Given the description of an element on the screen output the (x, y) to click on. 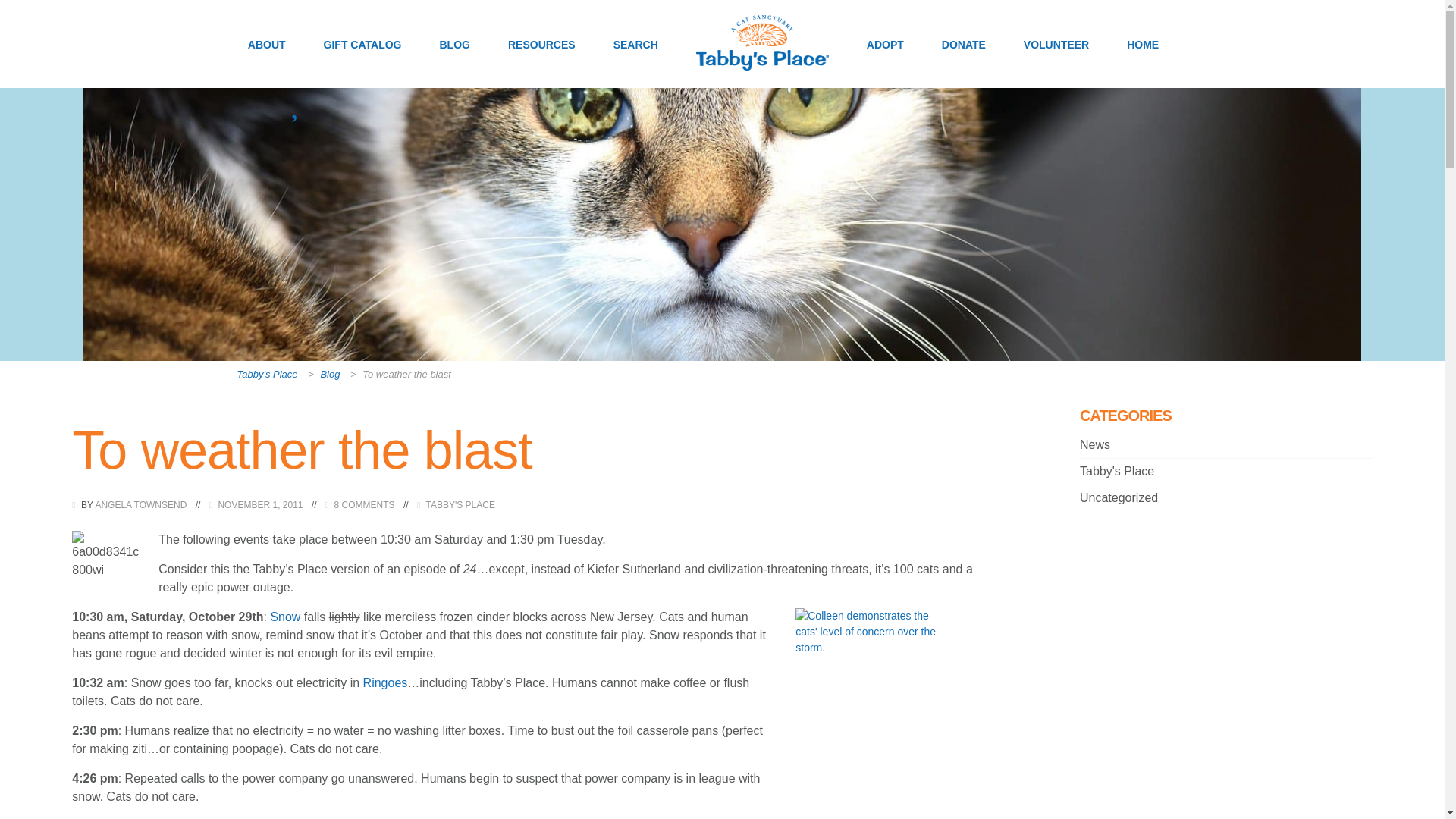
DONATE (963, 62)
Go to Tabby's Place. (268, 374)
Go to Blog. (331, 374)
SEARCH (635, 62)
GIFT CATALOG (362, 62)
RESOURCES (541, 62)
